Given the description of an element on the screen output the (x, y) to click on. 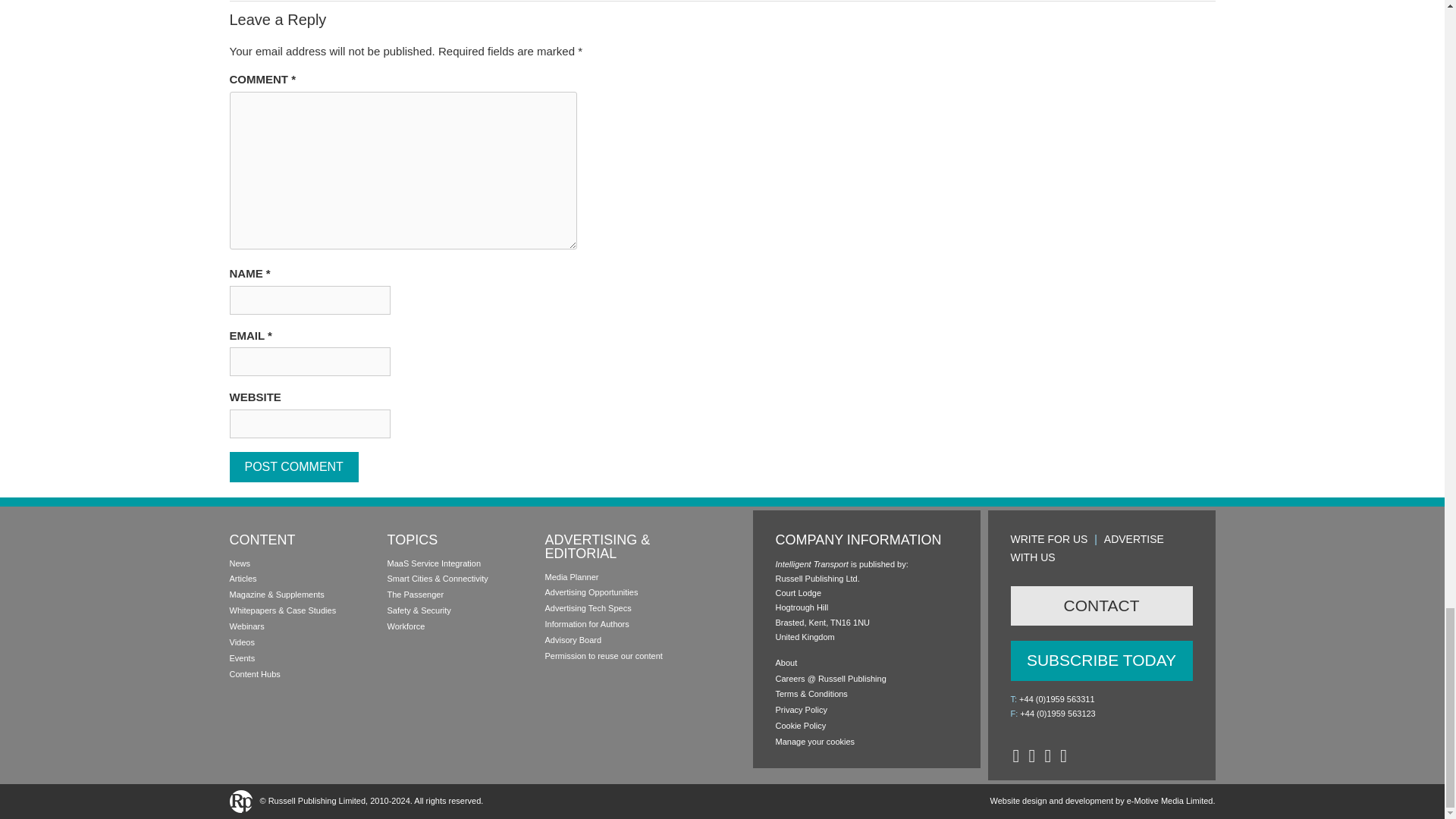
Post Comment (293, 467)
